Given the description of an element on the screen output the (x, y) to click on. 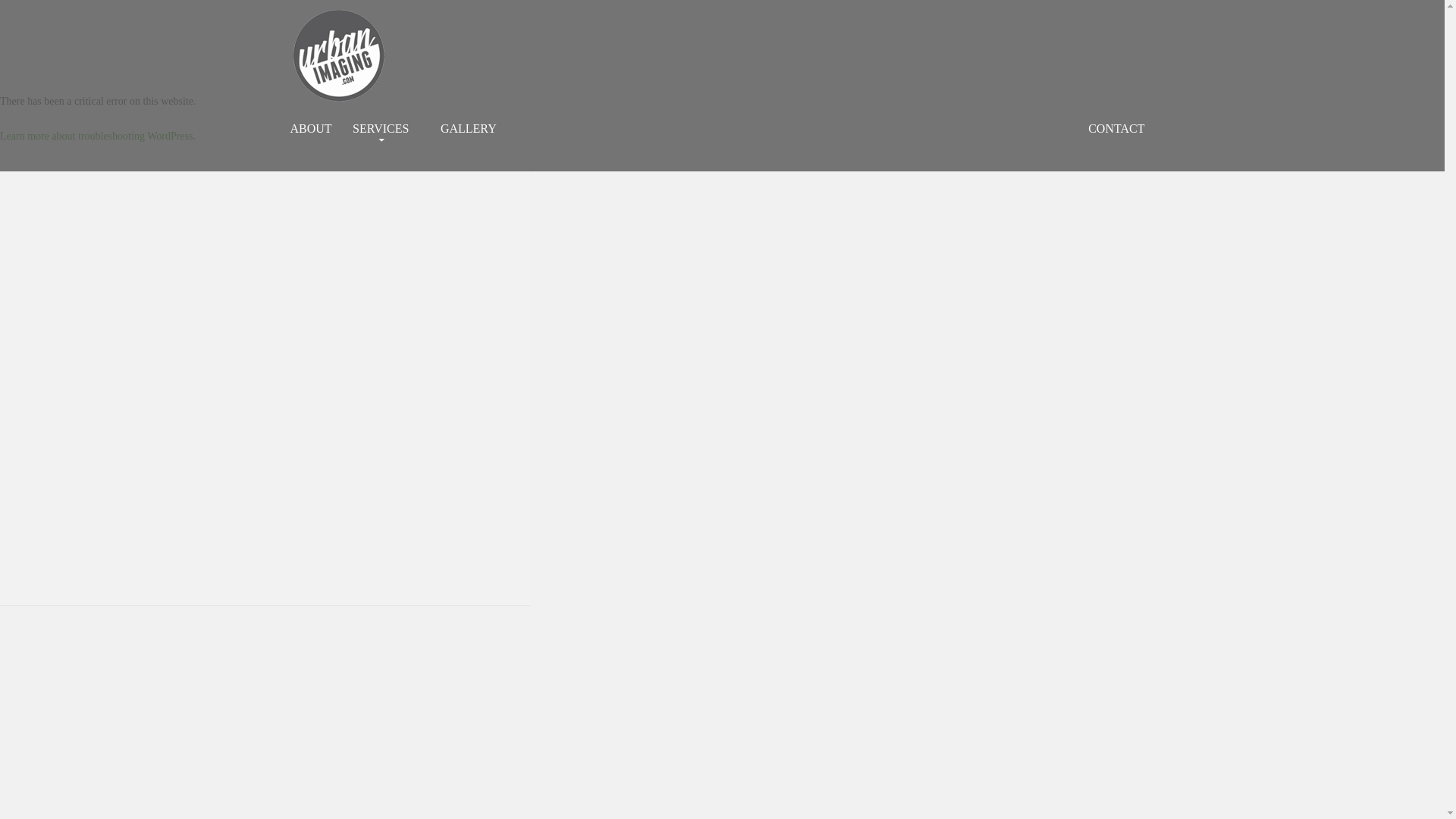
ABOUT (310, 128)
Learn more about troubleshooting WordPress. (97, 135)
SERVICES (385, 128)
Urban Imaging homepage (338, 55)
GALLERY (467, 128)
